Given the description of an element on the screen output the (x, y) to click on. 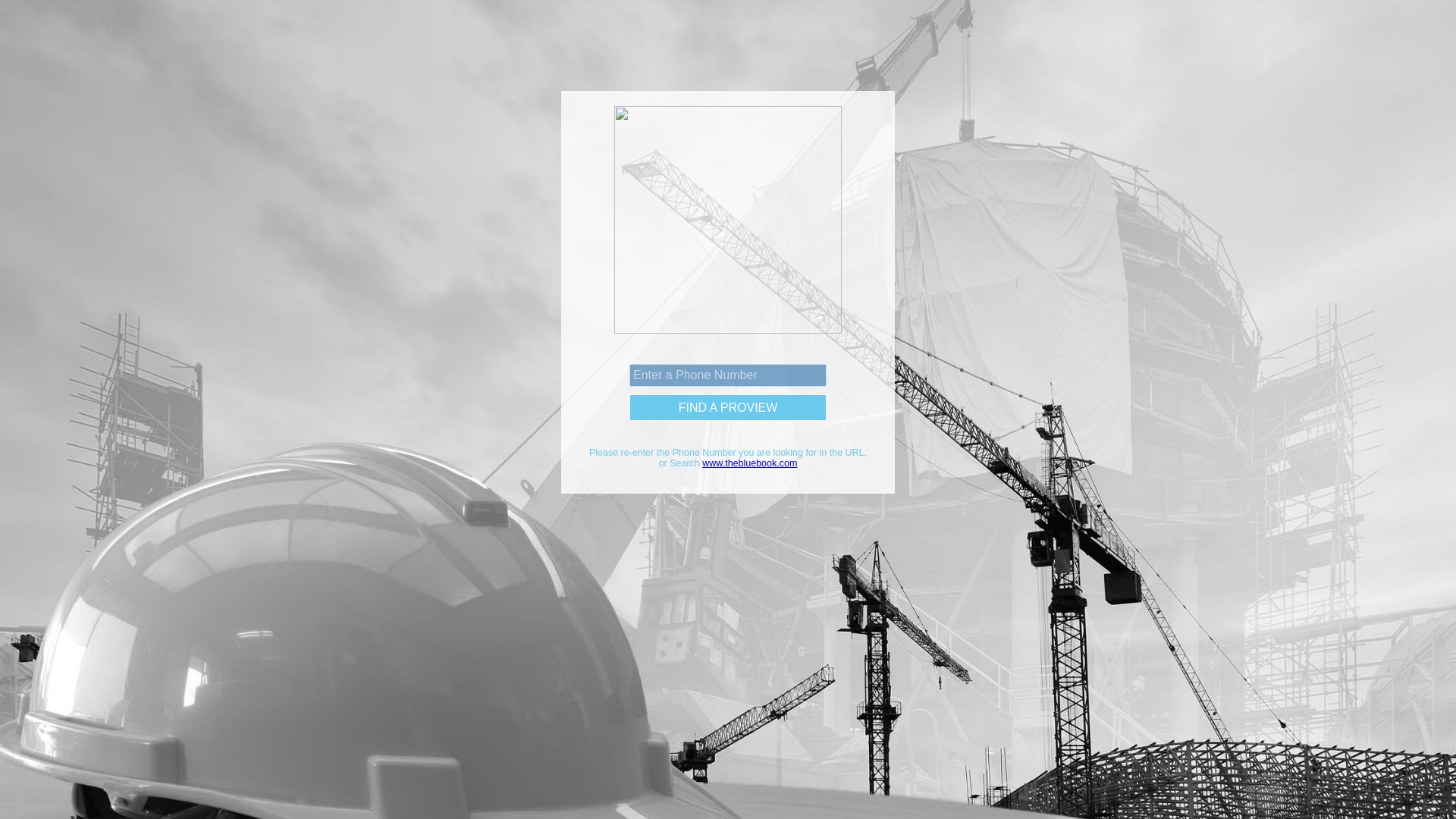
FIND A PROVIEW Element type: text (727, 407)
www.thebluebook.com Element type: text (749, 463)
